Given the description of an element on the screen output the (x, y) to click on. 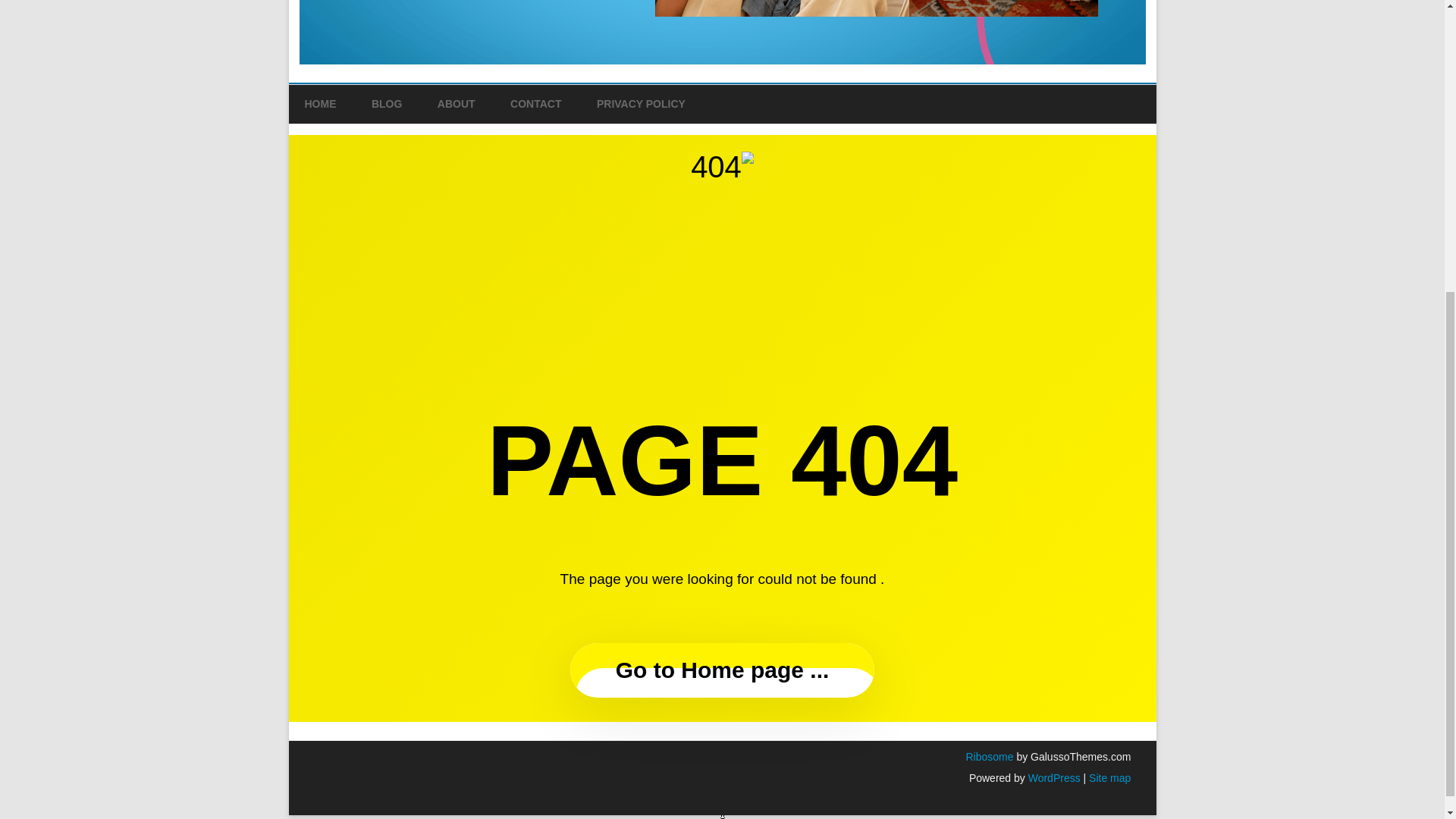
CONTACT (535, 104)
Site map (1110, 777)
WordPress (1052, 777)
PRIVACY POLICY (640, 104)
Ribosome (989, 756)
ABOUT (457, 104)
... Go to Home page (722, 669)
